Given the description of an element on the screen output the (x, y) to click on. 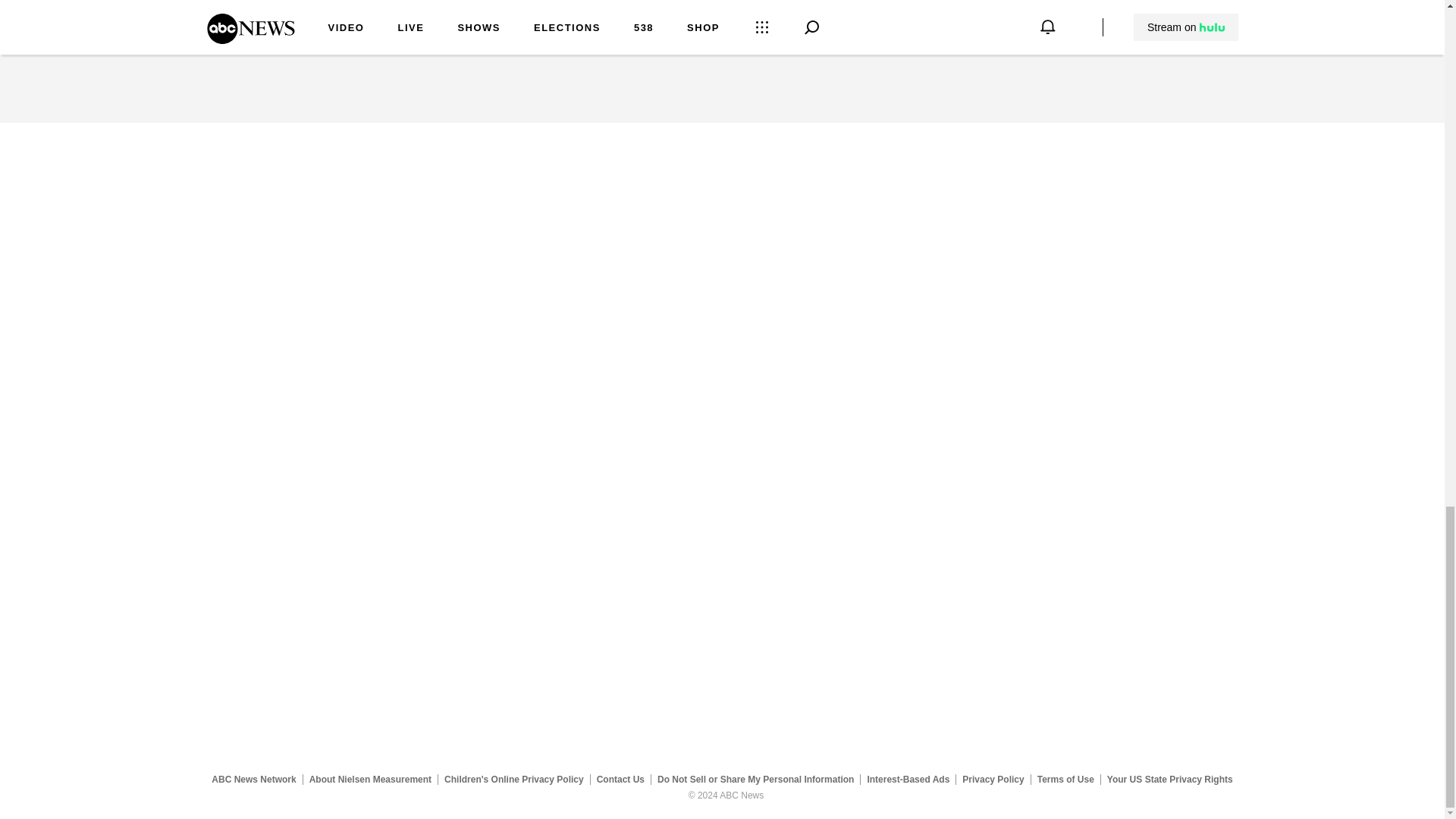
ABC News Network (253, 778)
Contact Us (620, 778)
Children's Online Privacy Policy (514, 778)
Interest-Based Ads (908, 778)
Privacy Policy (993, 778)
Terms of Use (1065, 778)
About Nielsen Measurement (370, 778)
Do Not Sell or Share My Personal Information (755, 778)
Your US State Privacy Rights (1169, 778)
